Given the description of an element on the screen output the (x, y) to click on. 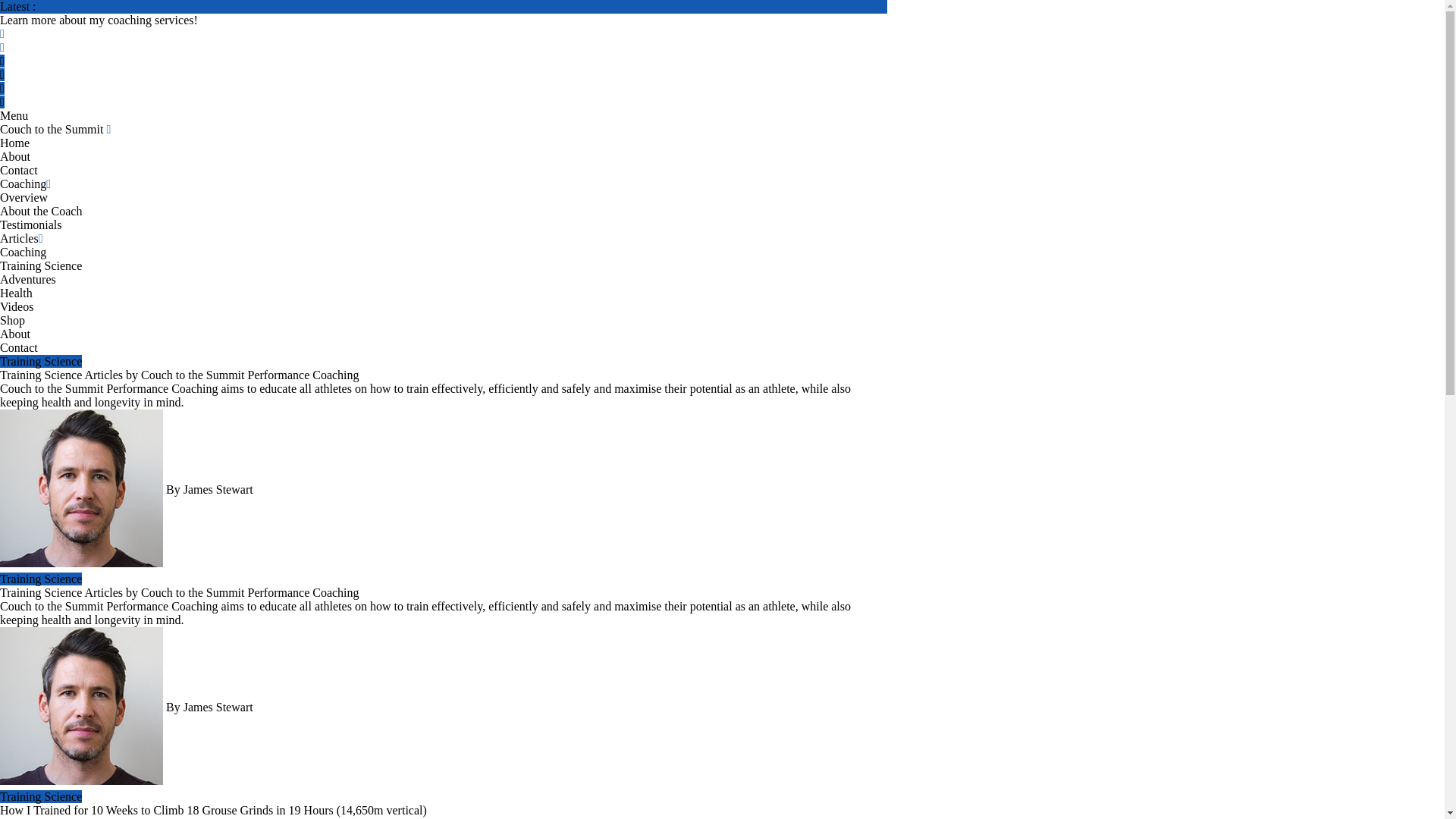
About the Coach (40, 210)
Training Science (40, 360)
About (15, 333)
Learn more about my coaching services! (99, 19)
Health (16, 292)
Coaching (23, 251)
Shop (12, 319)
Adventures (28, 278)
Home (14, 142)
Training Science (40, 265)
Couch to the Summit (55, 128)
Contact (18, 347)
Overview (24, 196)
Coaching (25, 183)
Testimonials (31, 224)
